Given the description of an element on the screen output the (x, y) to click on. 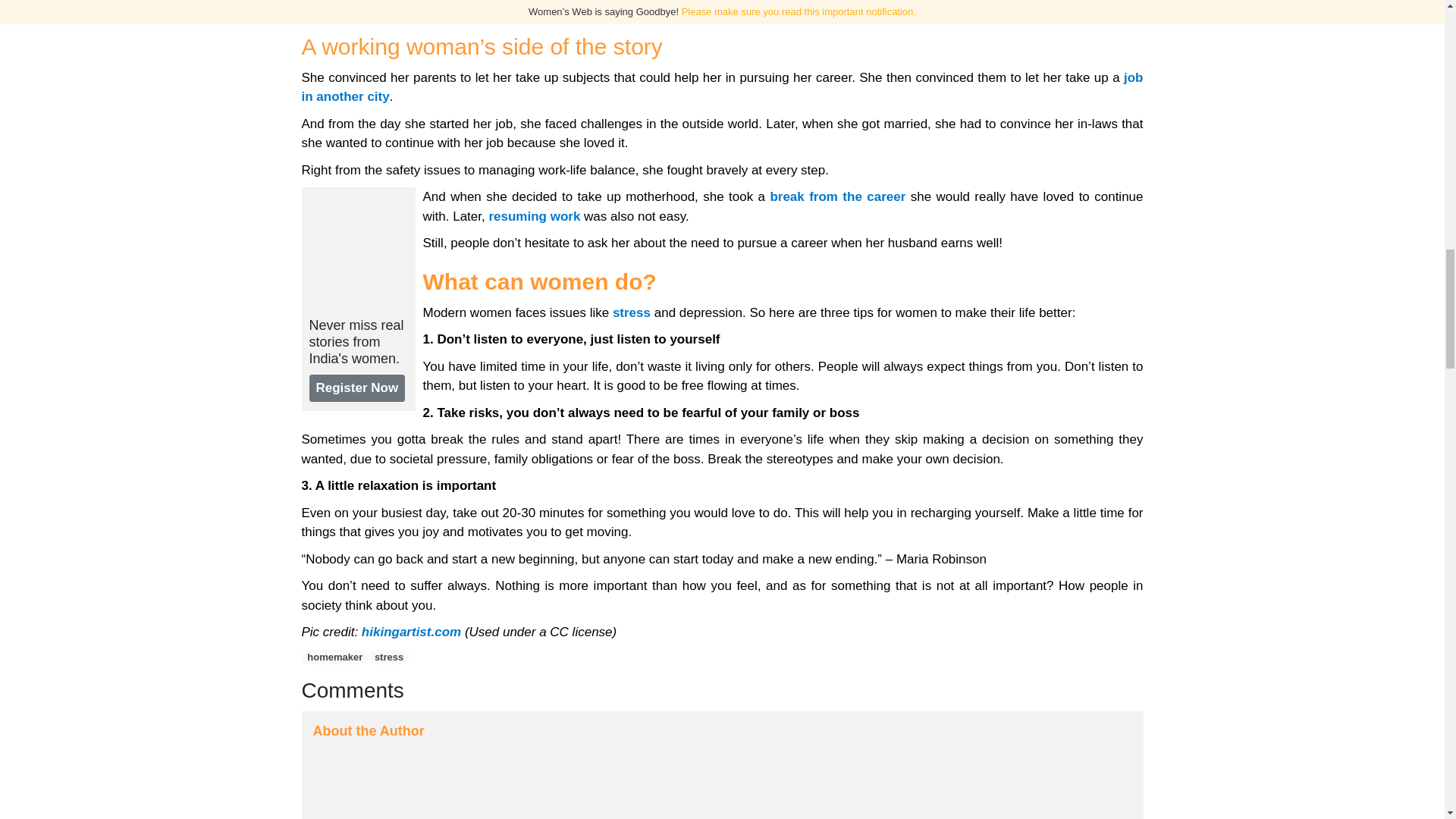
Homemakers and Stress (936, 7)
5 myths about stress (631, 312)
Improve your resume after a career break (533, 216)
Managing a career break (837, 196)
Women moving to new cities for work (721, 87)
